Given the description of an element on the screen output the (x, y) to click on. 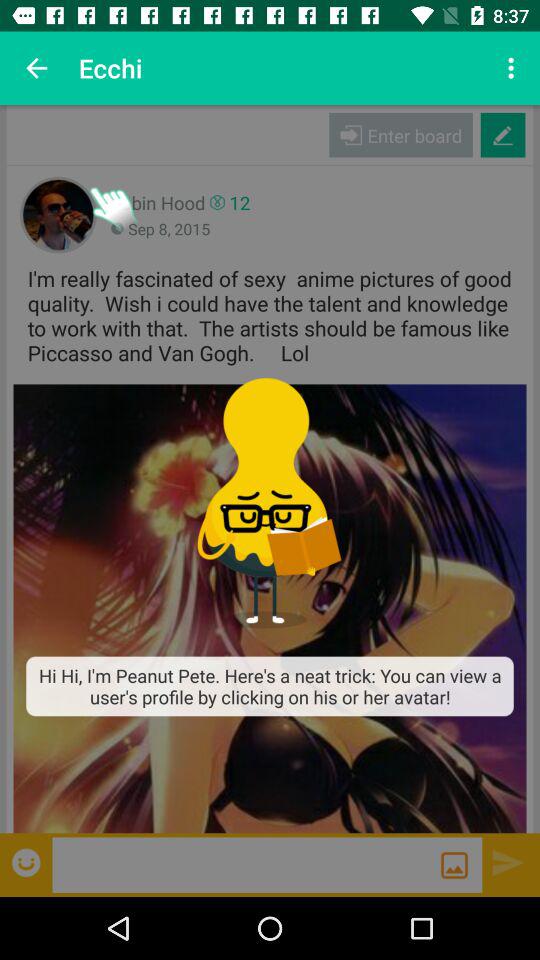
turn on app next to the ecchi  item (36, 68)
